Given the description of an element on the screen output the (x, y) to click on. 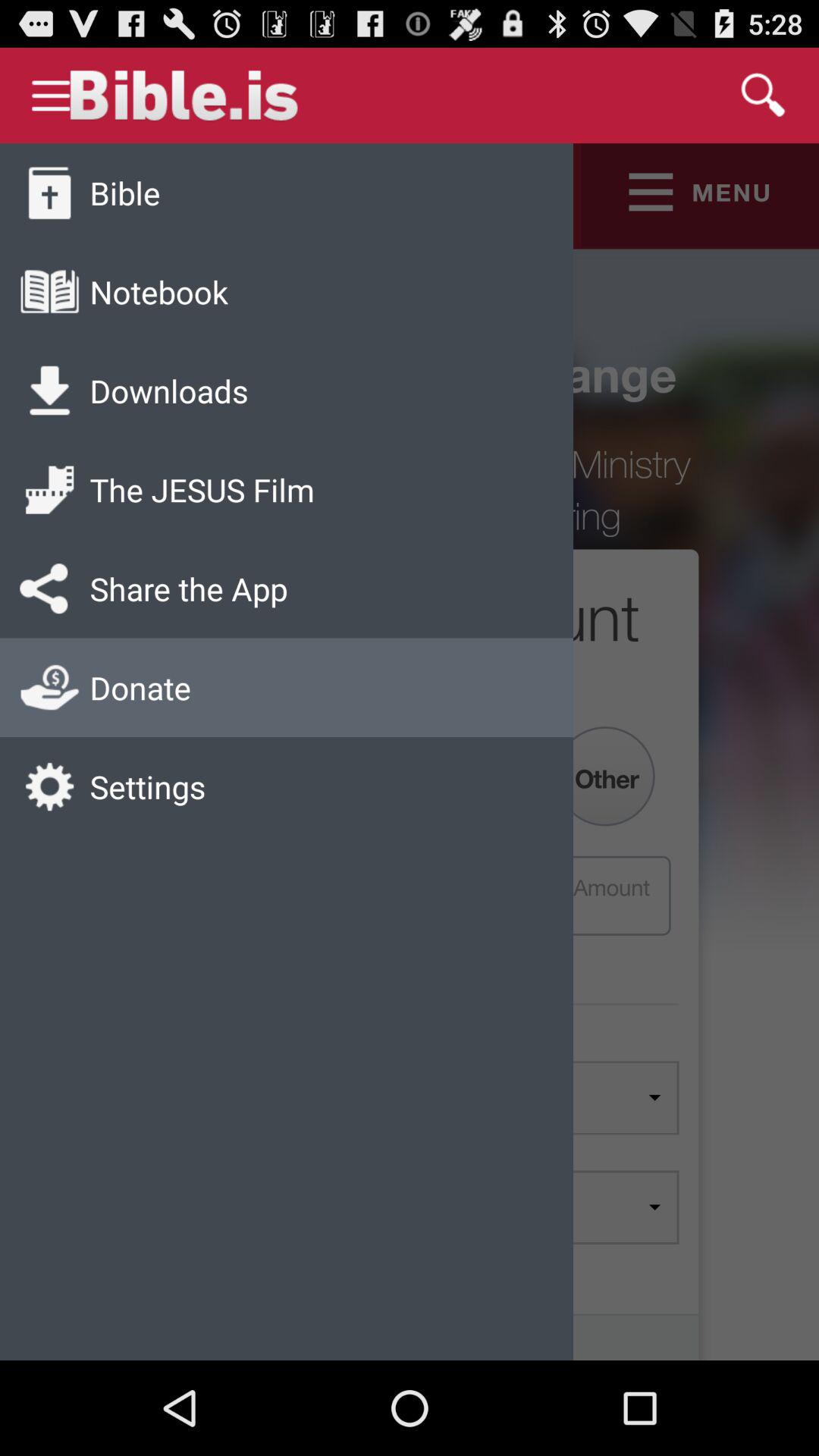
swipe to downloads icon (168, 390)
